Given the description of an element on the screen output the (x, y) to click on. 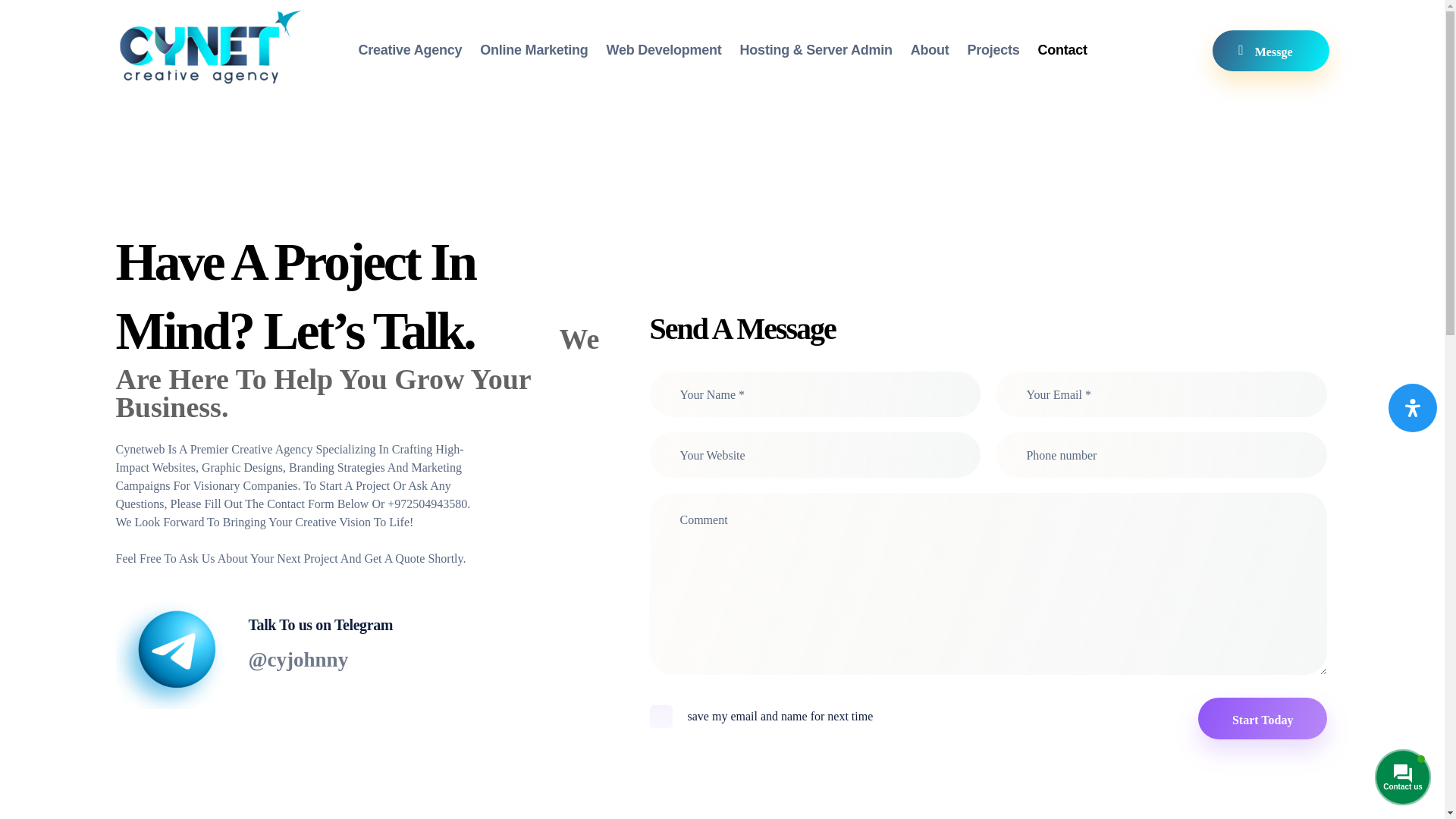
Projects (1001, 50)
start today (1262, 734)
About (939, 50)
Cynet Creative Studio (209, 94)
Creative Agency (419, 50)
Messge (1269, 50)
start today (1262, 718)
Contact (1071, 50)
Online Marketing (542, 50)
Web Development (672, 50)
save my email and name for next time (660, 716)
Cynet Creative Studio (195, 94)
Cynet Creative Studio (209, 47)
